Given the description of an element on the screen output the (x, y) to click on. 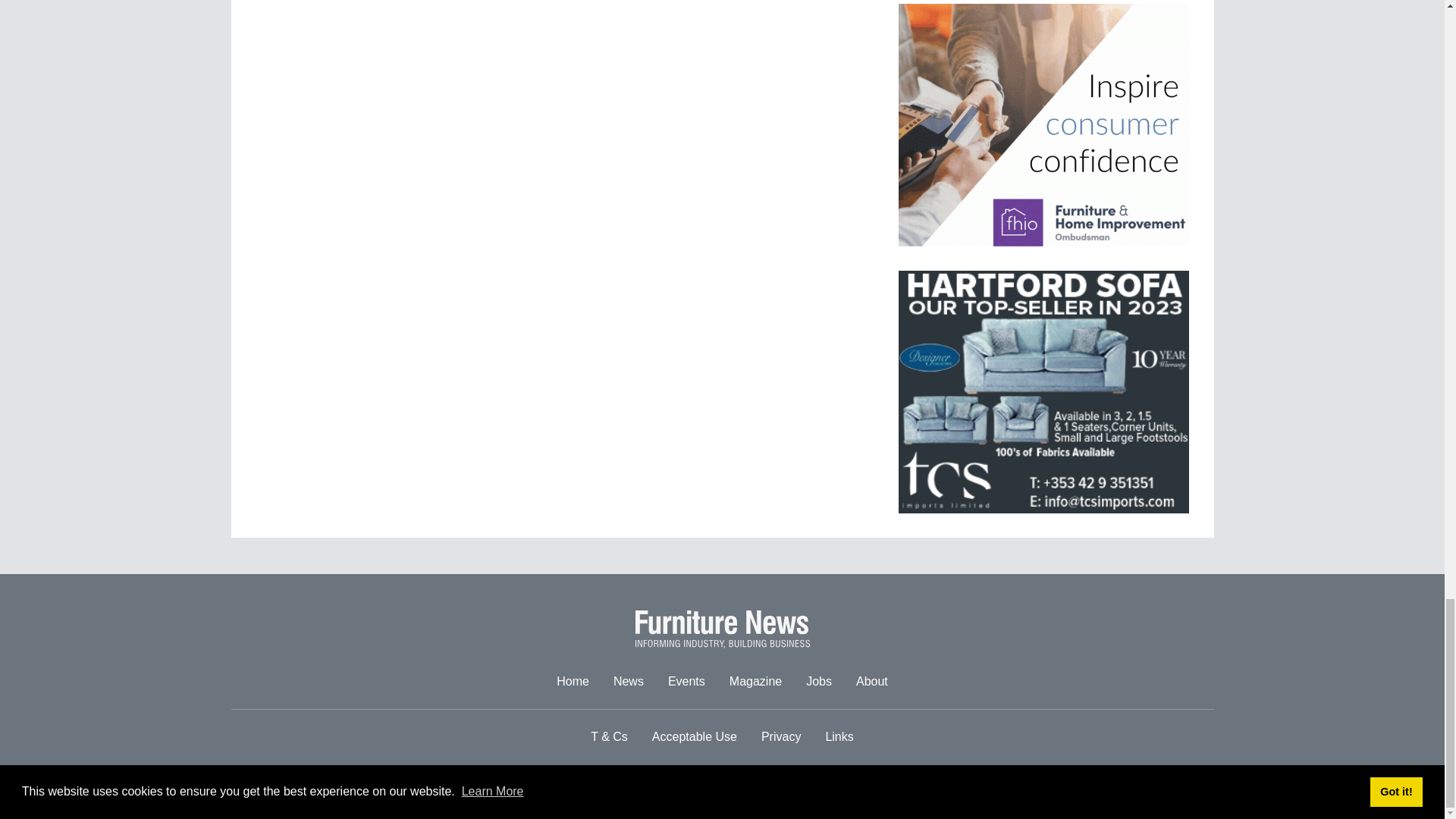
Privacy (780, 736)
News (628, 681)
About (871, 681)
Magazine (755, 681)
Home (572, 681)
Jobs (818, 681)
Acceptable Use (694, 736)
Events (686, 681)
